Given the description of an element on the screen output the (x, y) to click on. 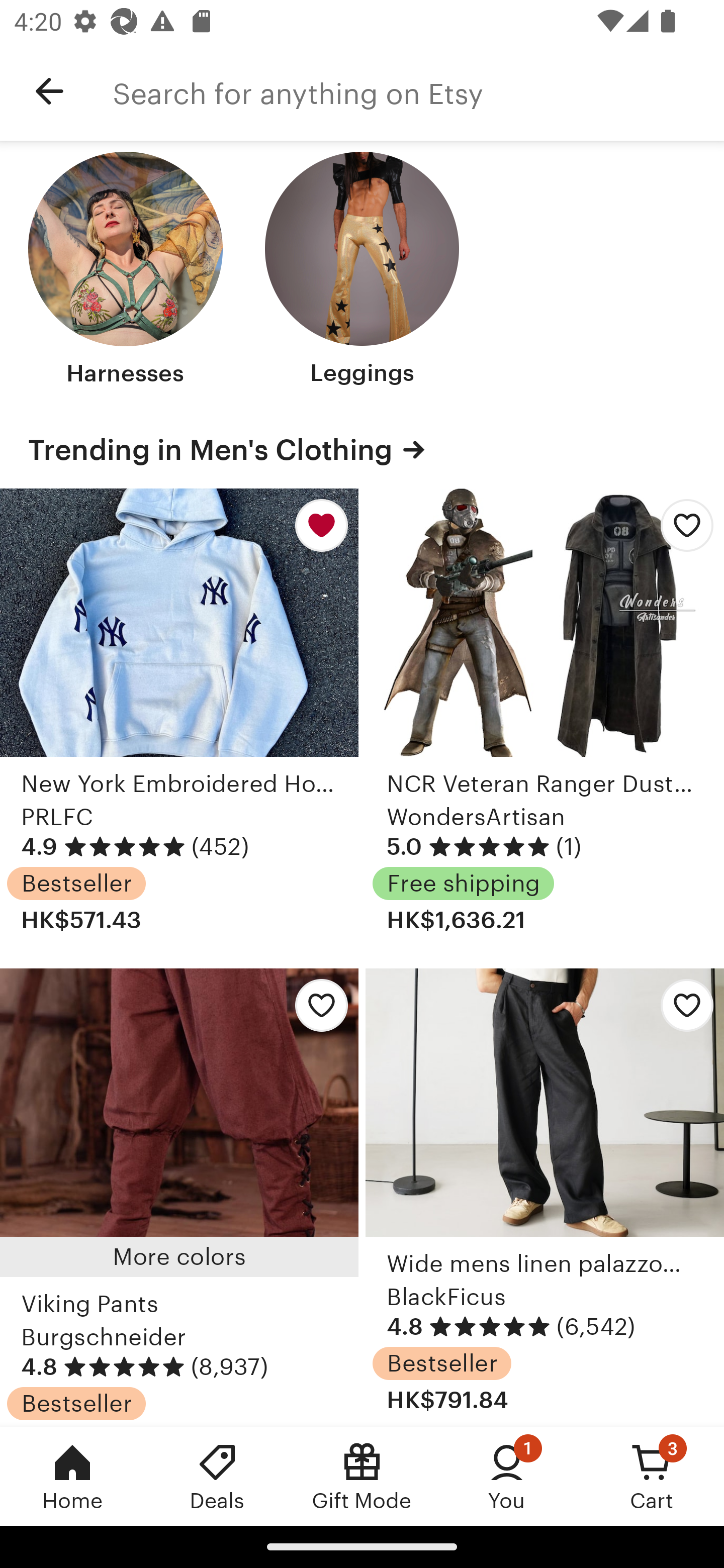
Navigate up (49, 91)
Search for anything on Etsy (418, 91)
Harnesses (125, 271)
Leggings (361, 271)
Trending in Men's Clothing  (361, 449)
Add Viking Pants to favorites (315, 1010)
Deals (216, 1475)
Gift Mode (361, 1475)
You, 1 new notification You (506, 1475)
Cart, 3 new notifications Cart (651, 1475)
